Given the description of an element on the screen output the (x, y) to click on. 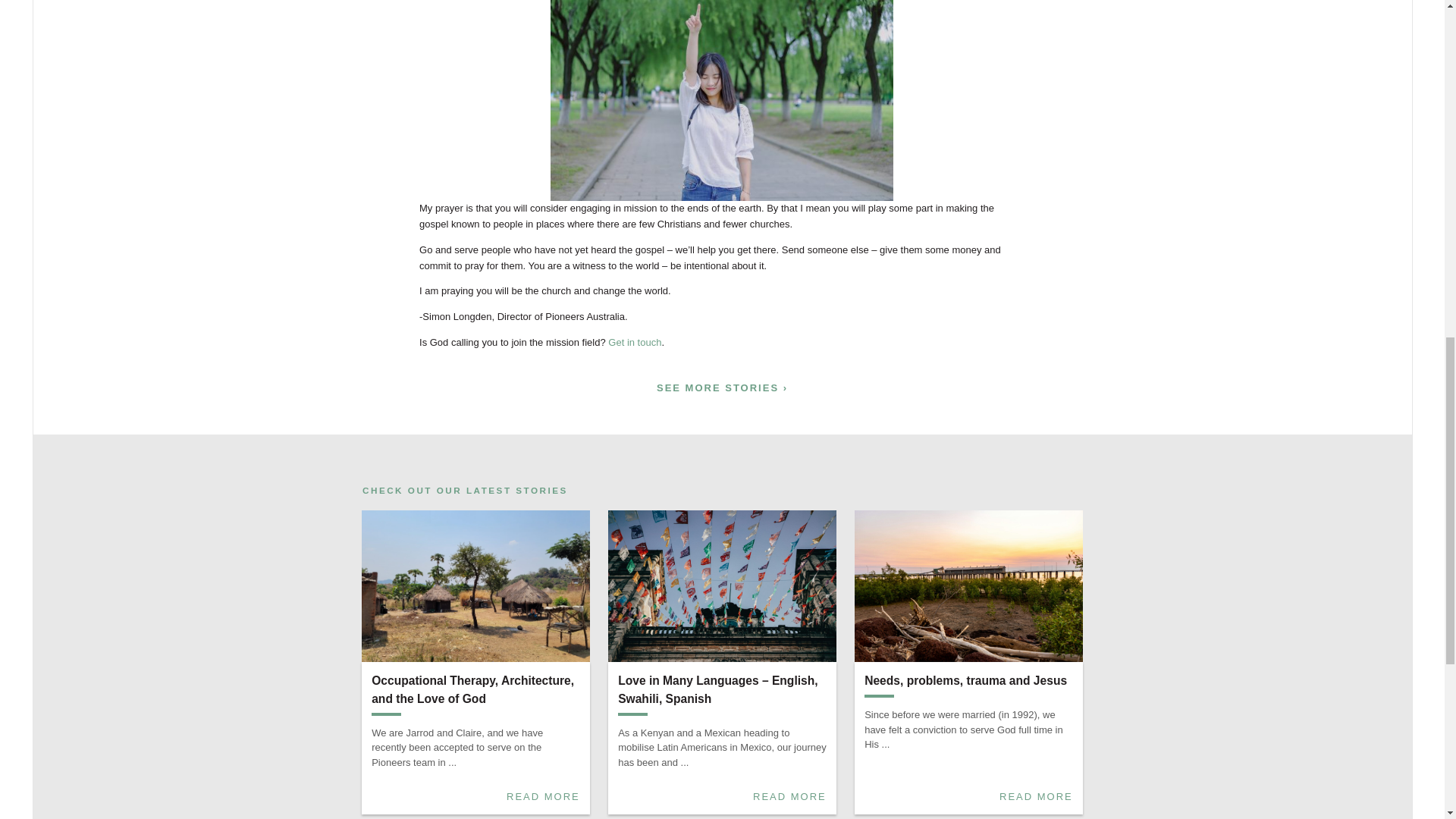
Get in touch (634, 342)
